Given the description of an element on the screen output the (x, y) to click on. 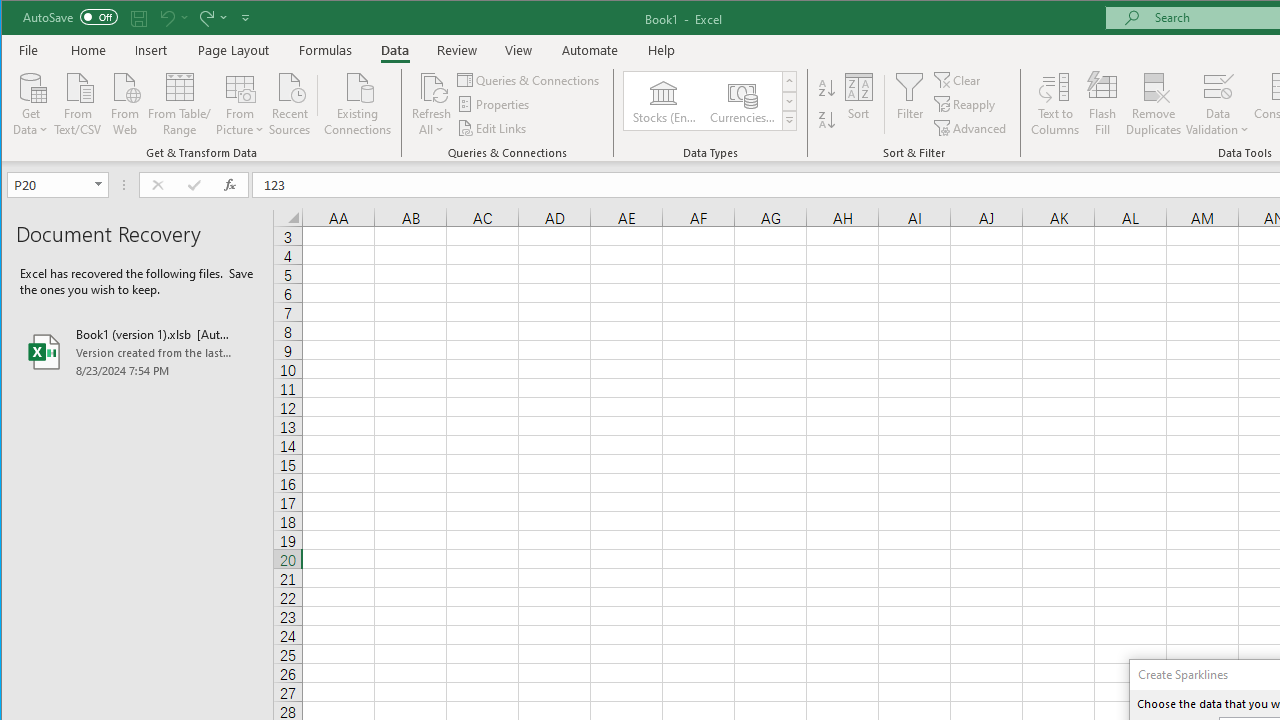
From Text/CSV (77, 101)
Currencies (English) (741, 100)
Flash Fill (1102, 104)
Filter (909, 104)
Advanced... (971, 127)
Sort... (859, 104)
Get Data (31, 101)
